Given the description of an element on the screen output the (x, y) to click on. 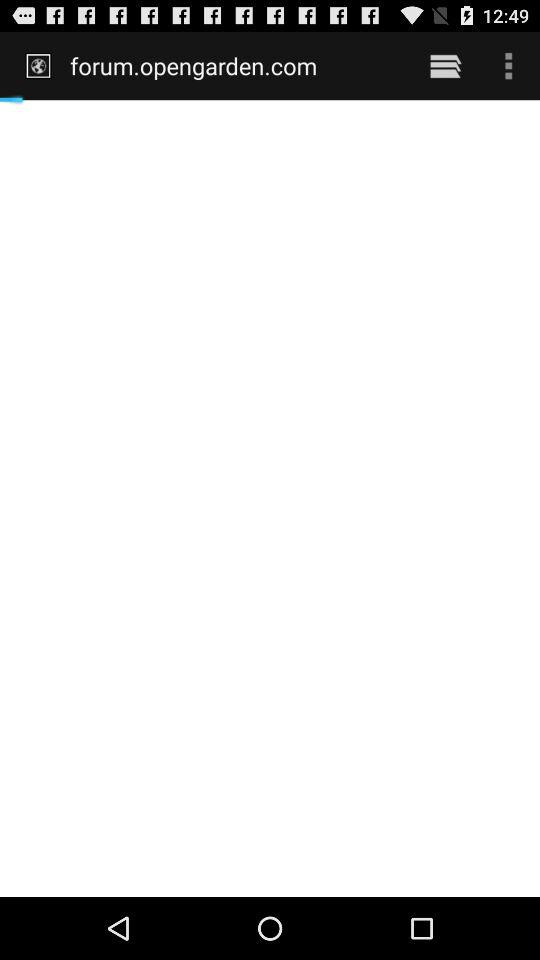
turn off the icon next to the forum.opengarden.com (444, 65)
